Given the description of an element on the screen output the (x, y) to click on. 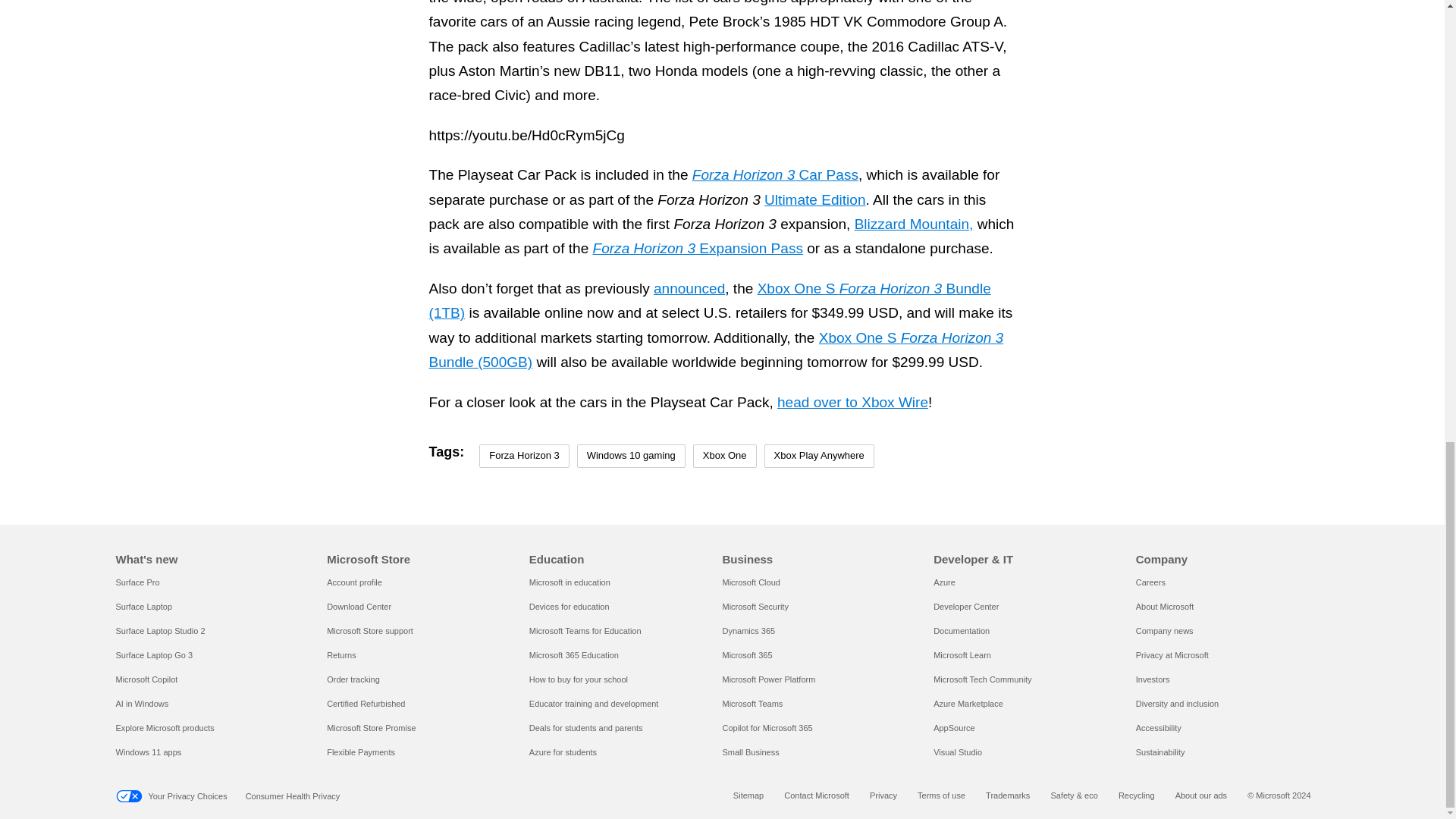
Xbox One Tag (725, 455)
Forza Horizon 3 Tag (524, 455)
Xbox Play Anywhere Tag (819, 455)
Windows 10 gaming Tag (630, 455)
